Given the description of an element on the screen output the (x, y) to click on. 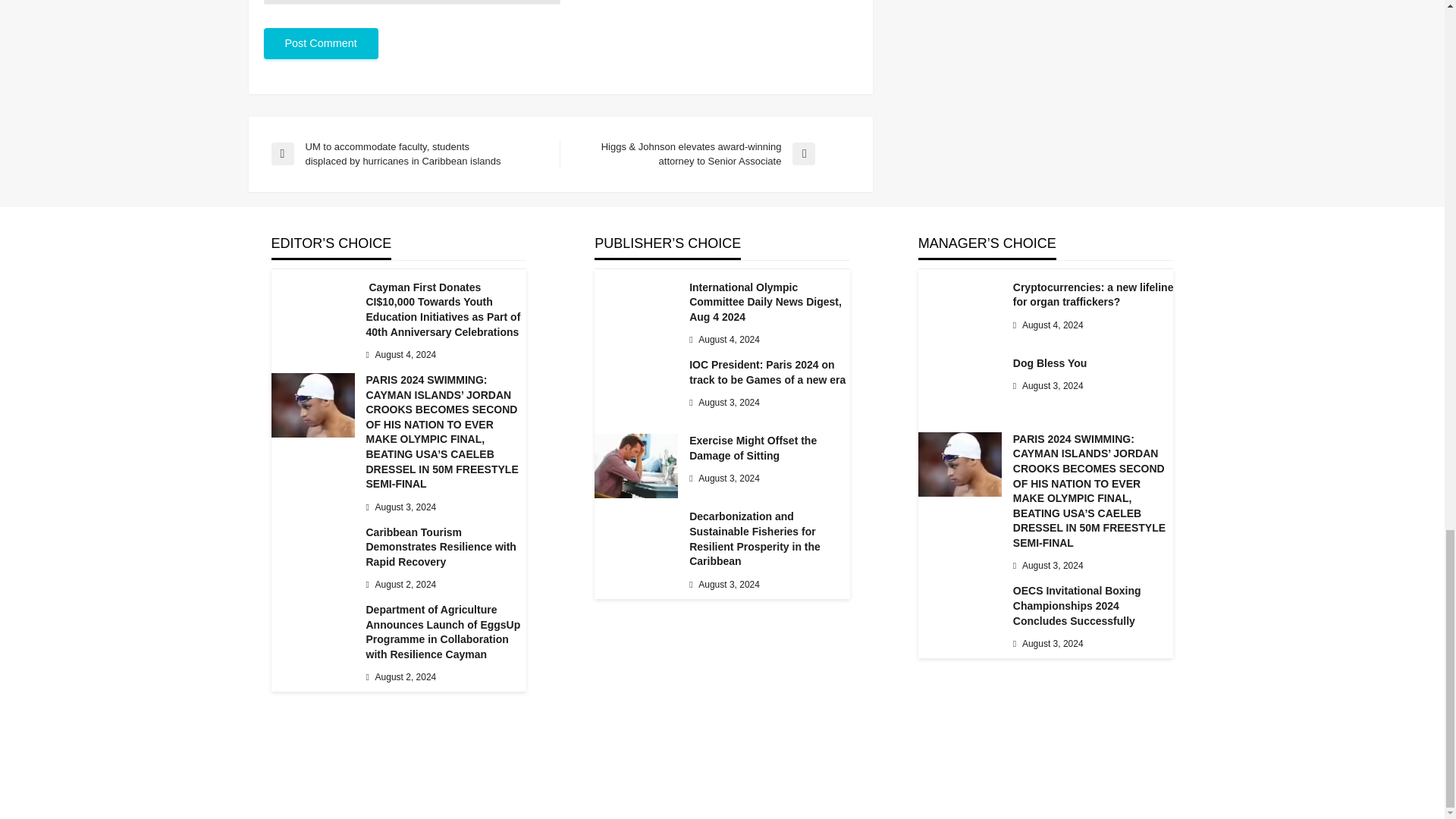
Post Comment (320, 42)
